Given the description of an element on the screen output the (x, y) to click on. 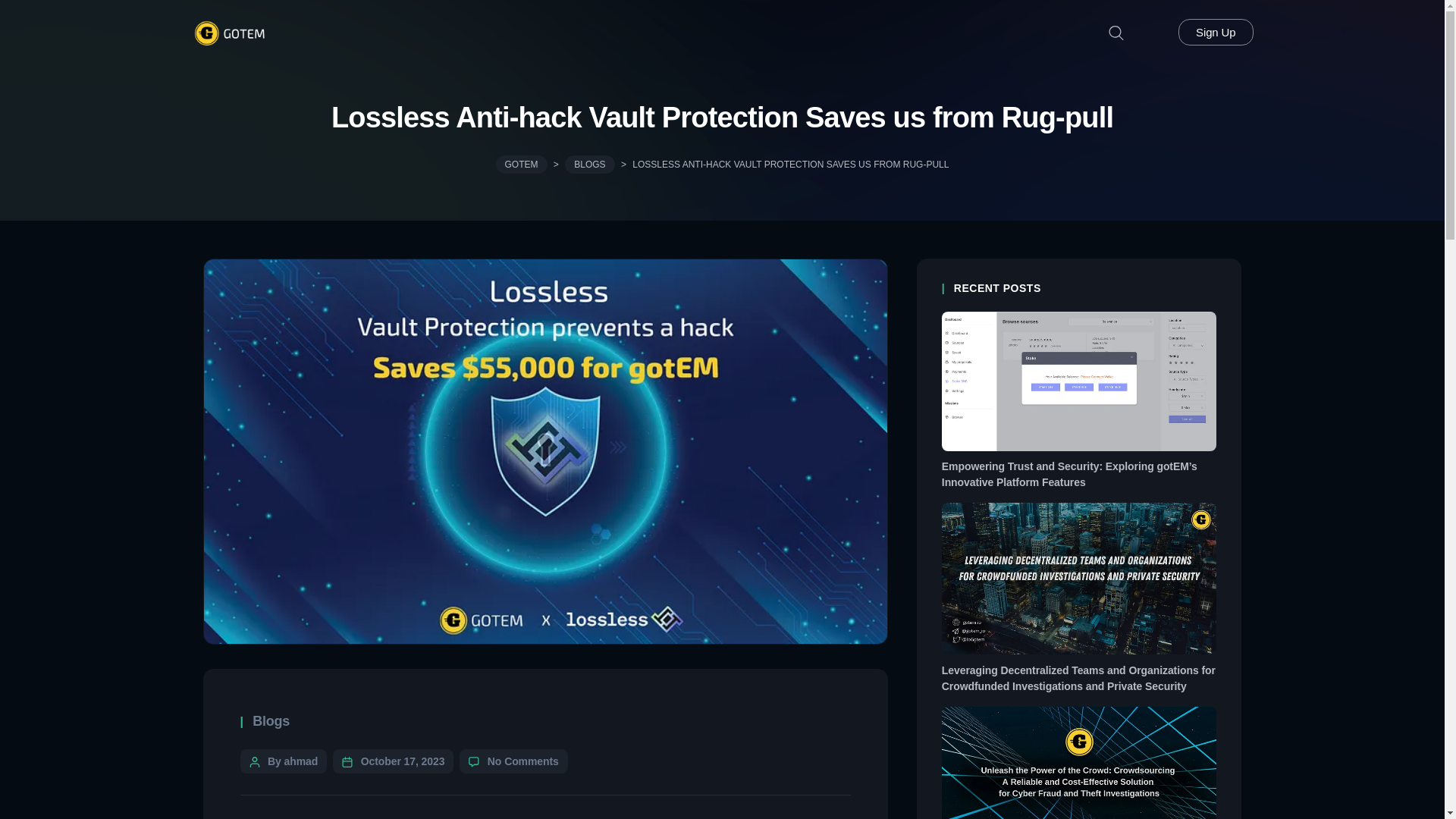
Unleash the Power of the Crowd (1079, 796)
No Comments (523, 761)
GOTEM (521, 164)
By ahmad (292, 761)
Go to gotEM. (521, 164)
Sign Up (1214, 31)
BLOGS (589, 164)
Go to the Blogs Category archives. (589, 164)
Blogs (270, 720)
